Given the description of an element on the screen output the (x, y) to click on. 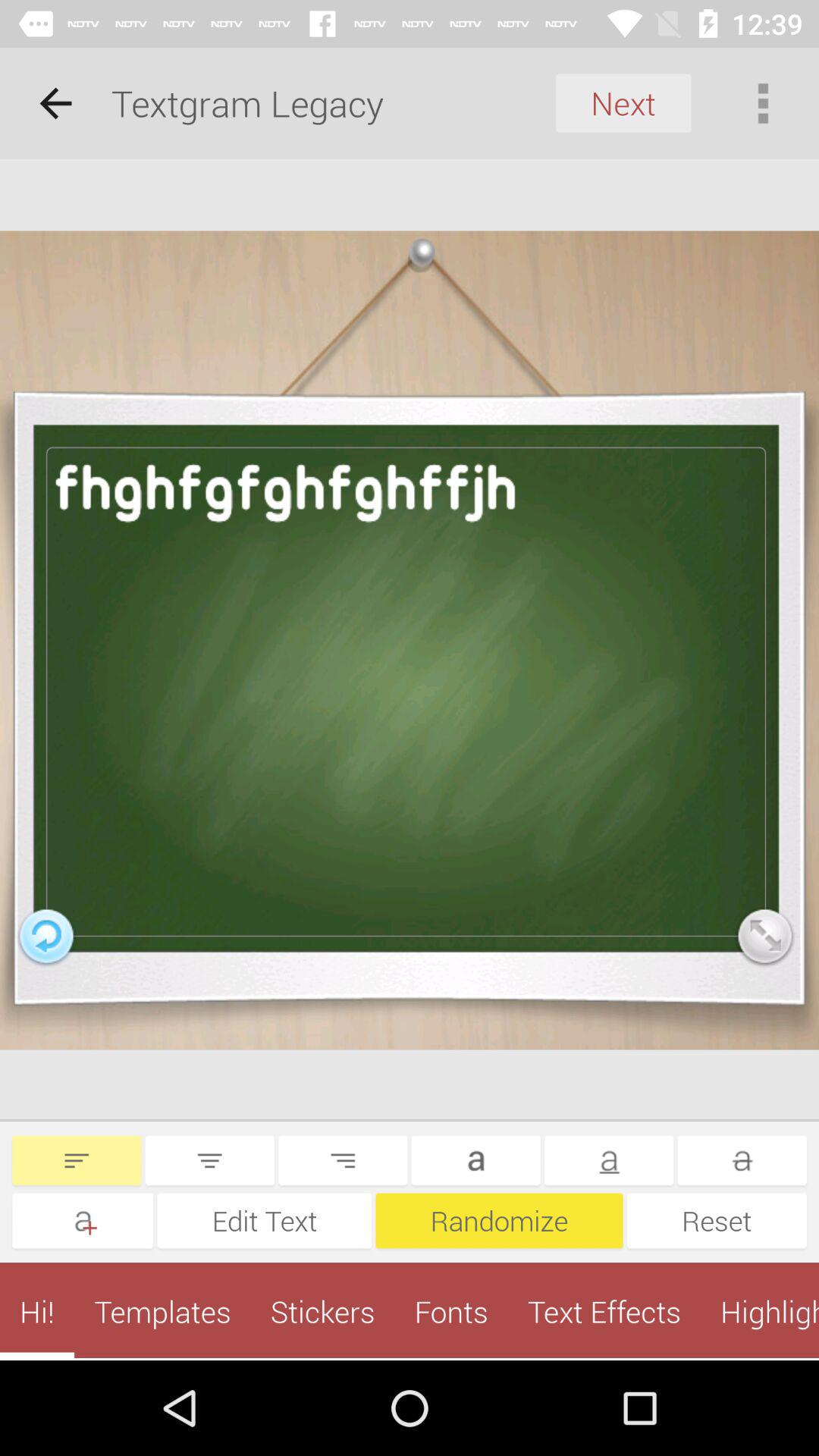
tap icon to the left of reset (499, 1220)
